Given the description of an element on the screen output the (x, y) to click on. 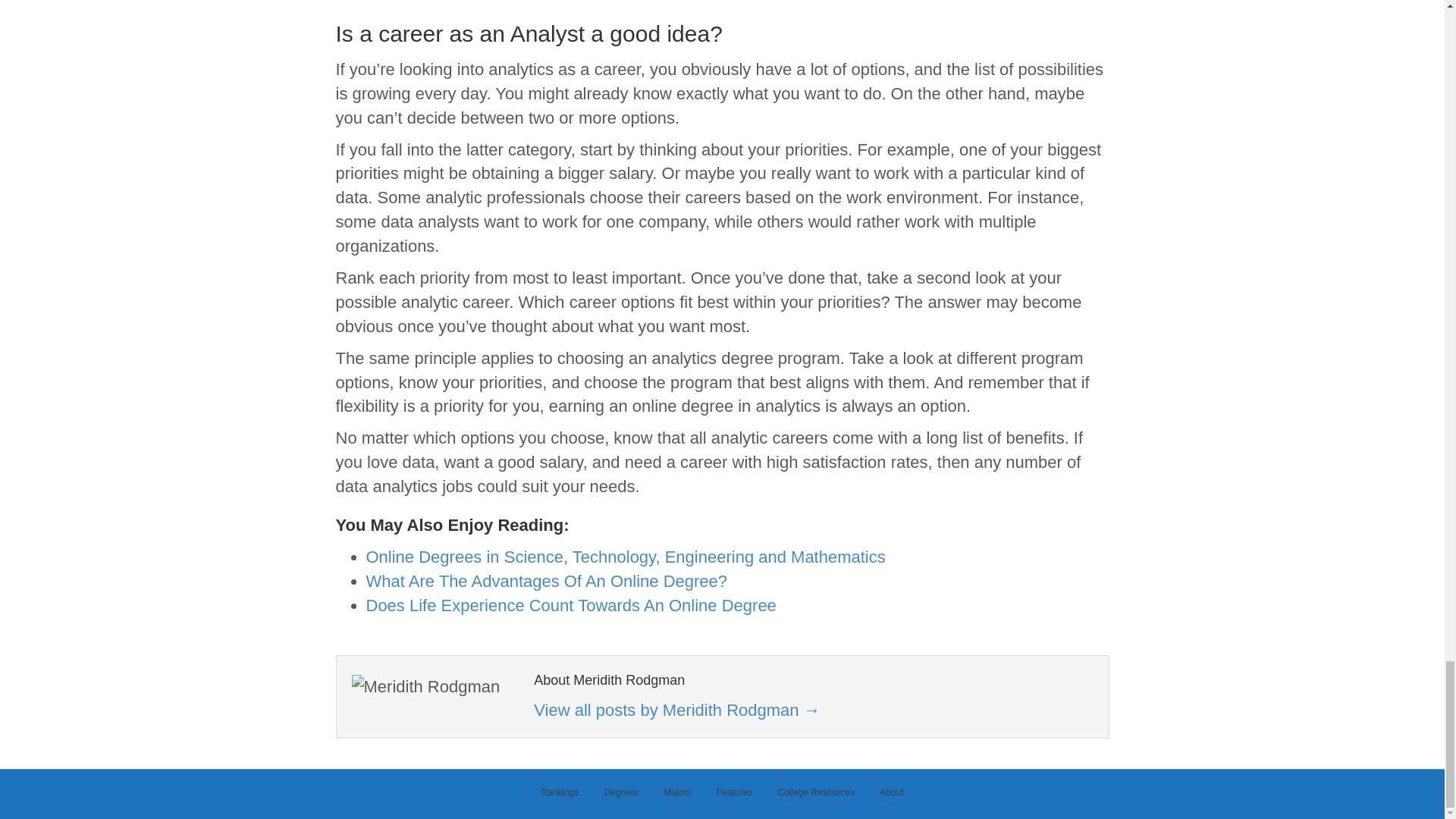
College Resources (816, 797)
Does Life Experience Count Towards An Online Degree (570, 605)
Rankings (559, 797)
About (890, 797)
Features (733, 797)
Degrees (620, 797)
What Are The Advantages Of An Online Degree? (545, 580)
Majors (676, 797)
